Given the description of an element on the screen output the (x, y) to click on. 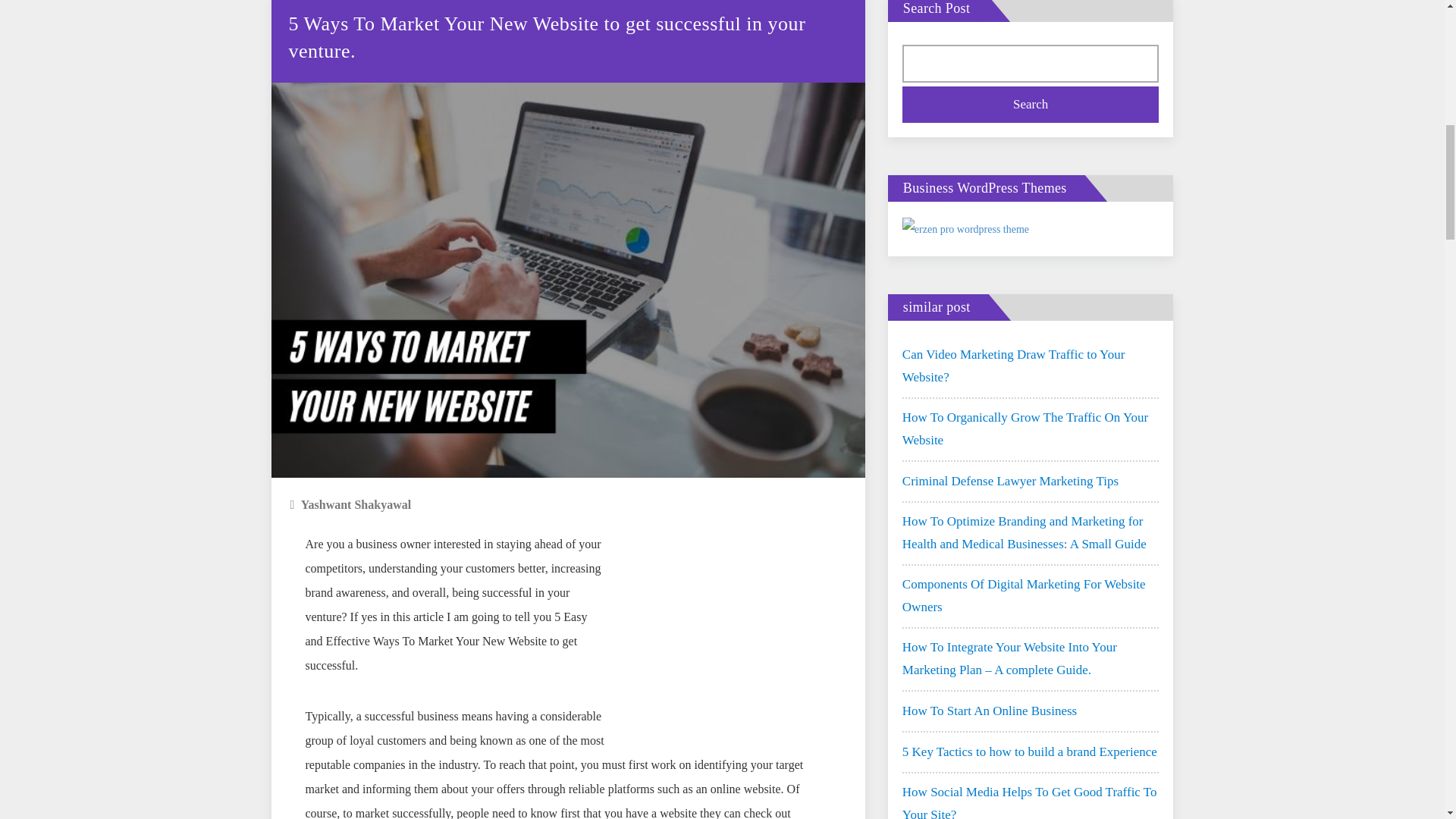
How To Organically Grow The Traffic On Your Website (1030, 429)
Search (1030, 104)
erzen-pro (965, 228)
Criminal Defense Lawyer Marketing Tips (1010, 481)
Components Of Digital Marketing For Website Owners (1030, 596)
Can Video Marketing Draw Traffic to Your Website? (1030, 366)
